Given the description of an element on the screen output the (x, y) to click on. 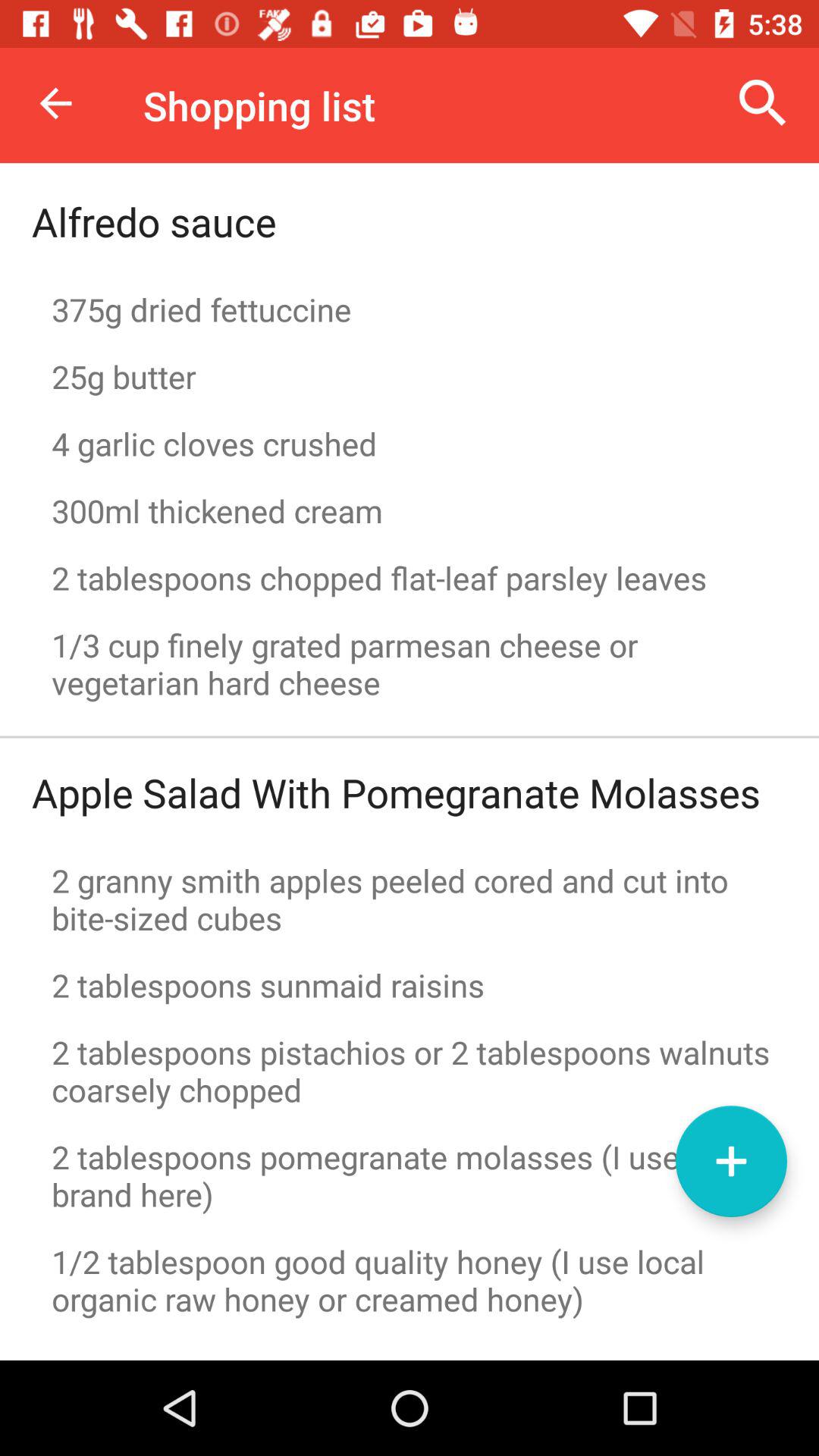
open icon above the 4 garlic cloves item (409, 376)
